Given the description of an element on the screen output the (x, y) to click on. 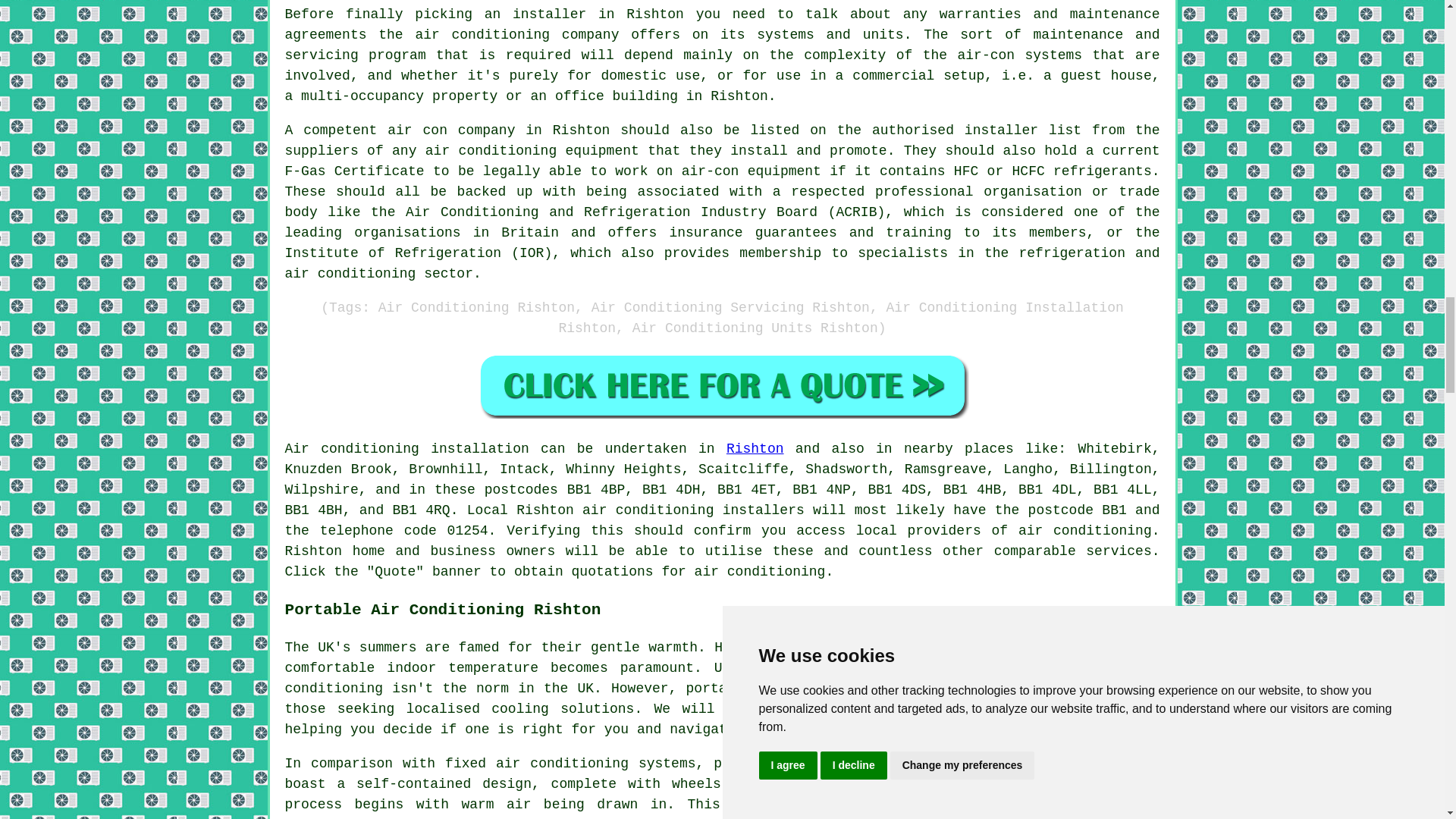
air conditioning company (516, 34)
Quotes for Air Conditioning Installation in Rishton UK (722, 385)
installer (1000, 130)
